Given the description of an element on the screen output the (x, y) to click on. 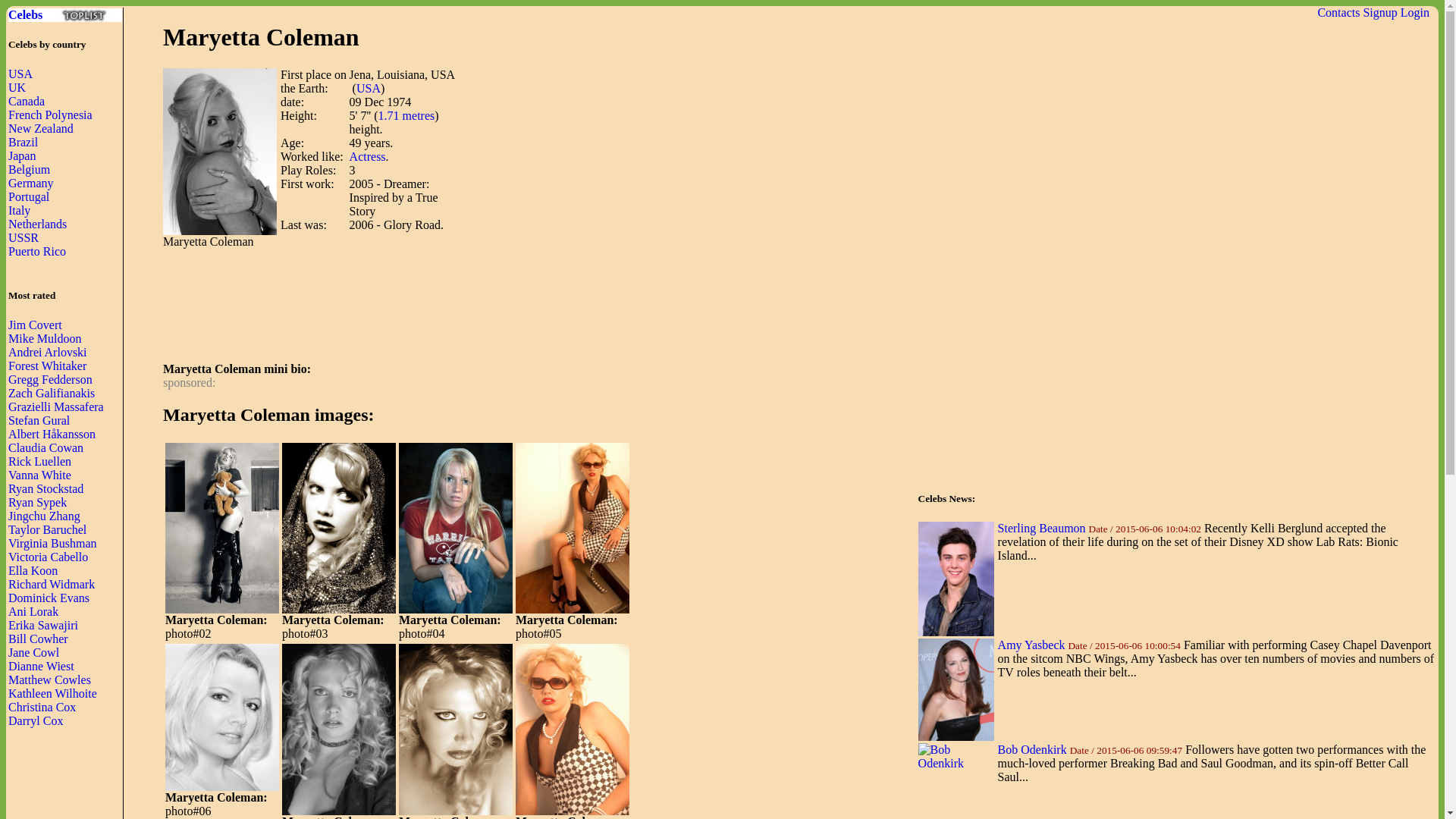
Belgium (28, 169)
Forest Whitaker (46, 365)
USA (20, 73)
Portugal (28, 196)
French Polynesia (50, 114)
Ani Lorak (33, 611)
Taylor Baruchel (46, 529)
Canada (26, 101)
Mike Muldoon (44, 338)
Japan (21, 155)
Canada (26, 101)
Richard Widmark (51, 584)
Grazielli Massafera (55, 406)
UK (17, 87)
Japan (21, 155)
